Given the description of an element on the screen output the (x, y) to click on. 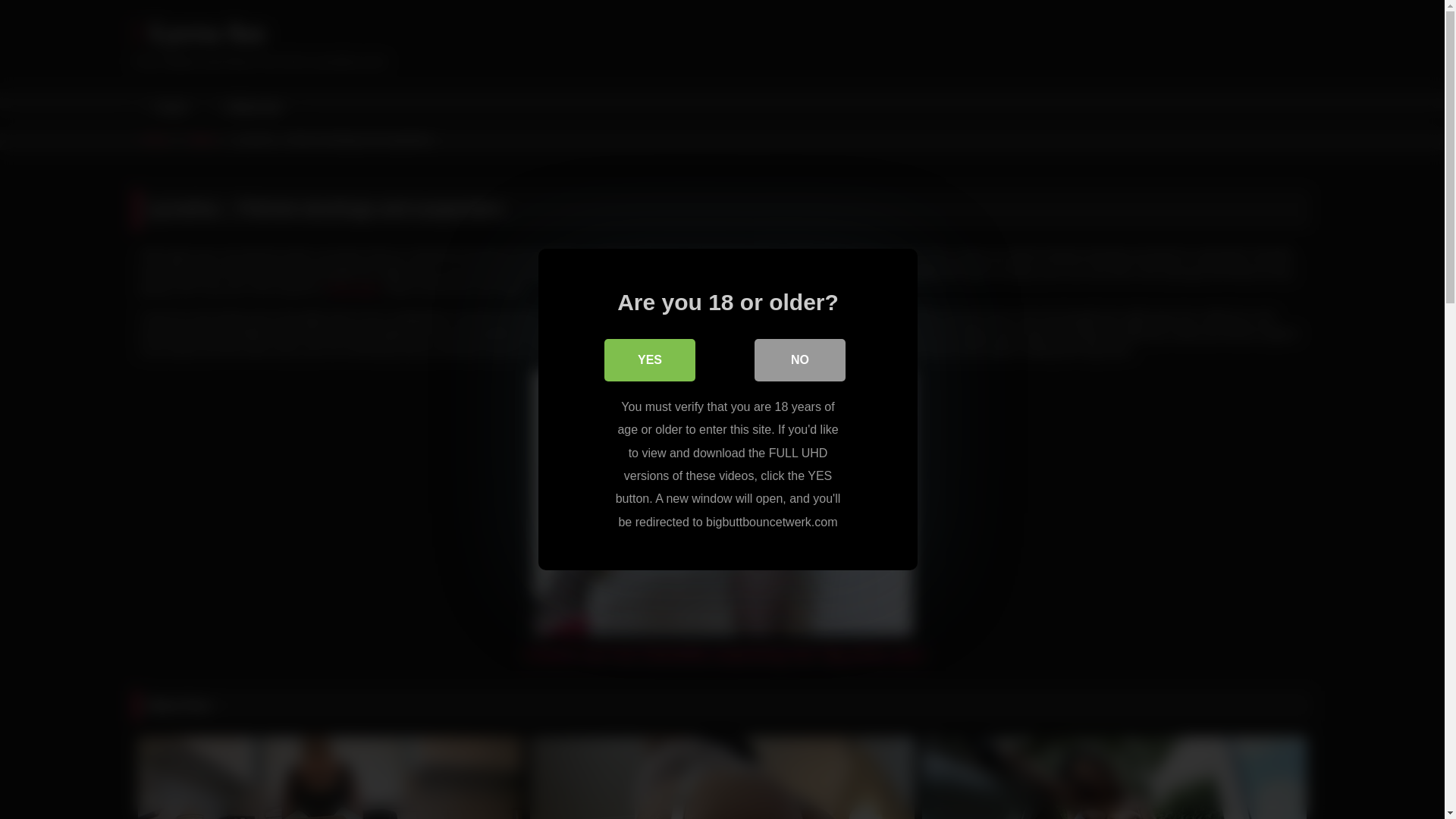
lycra-ass-big-assed-milf-in-fishnet-stockings (721, 502)
Official Site (250, 108)
White fishnet stockings tease (721, 777)
White fishnet stockings tease (721, 777)
YES (649, 360)
Ready For The Gym (330, 777)
NO (799, 360)
Ready For The Gym (330, 777)
Lycra Ass (198, 32)
round and brown (792, 349)
kinky babe (353, 288)
Home (155, 138)
Videos (201, 138)
Check out hot Daniella exposing her big phat ass! (724, 653)
Home (169, 108)
